Given the description of an element on the screen output the (x, y) to click on. 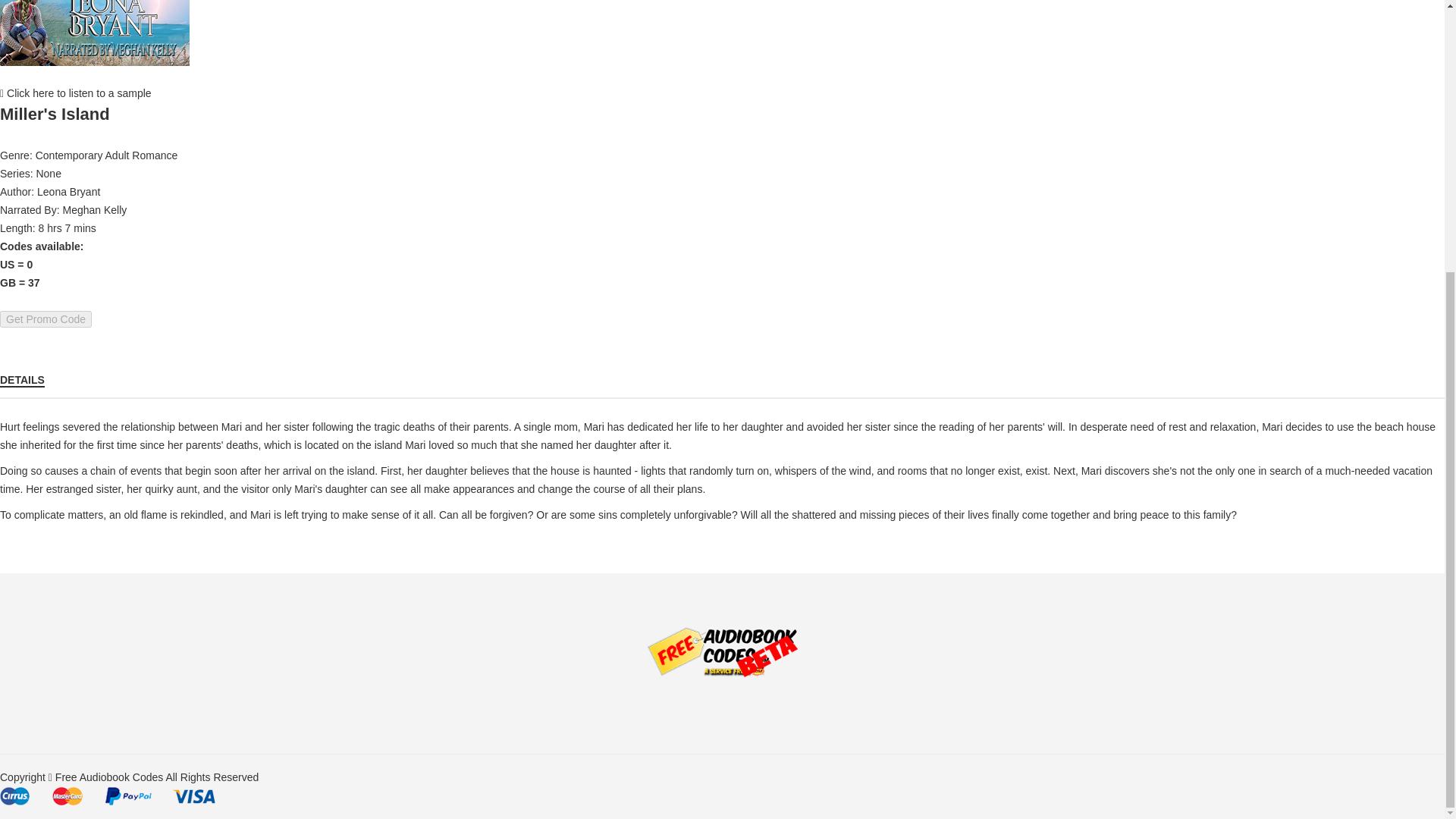
Leona Bryant (68, 191)
Get Promo Code (45, 319)
Free Audiobook Codes (109, 776)
DETAILS (22, 379)
Meghan Kelly (94, 209)
Contemporary Adult Romance (105, 155)
None (47, 173)
Click here to listen to a sample (75, 92)
